Given the description of an element on the screen output the (x, y) to click on. 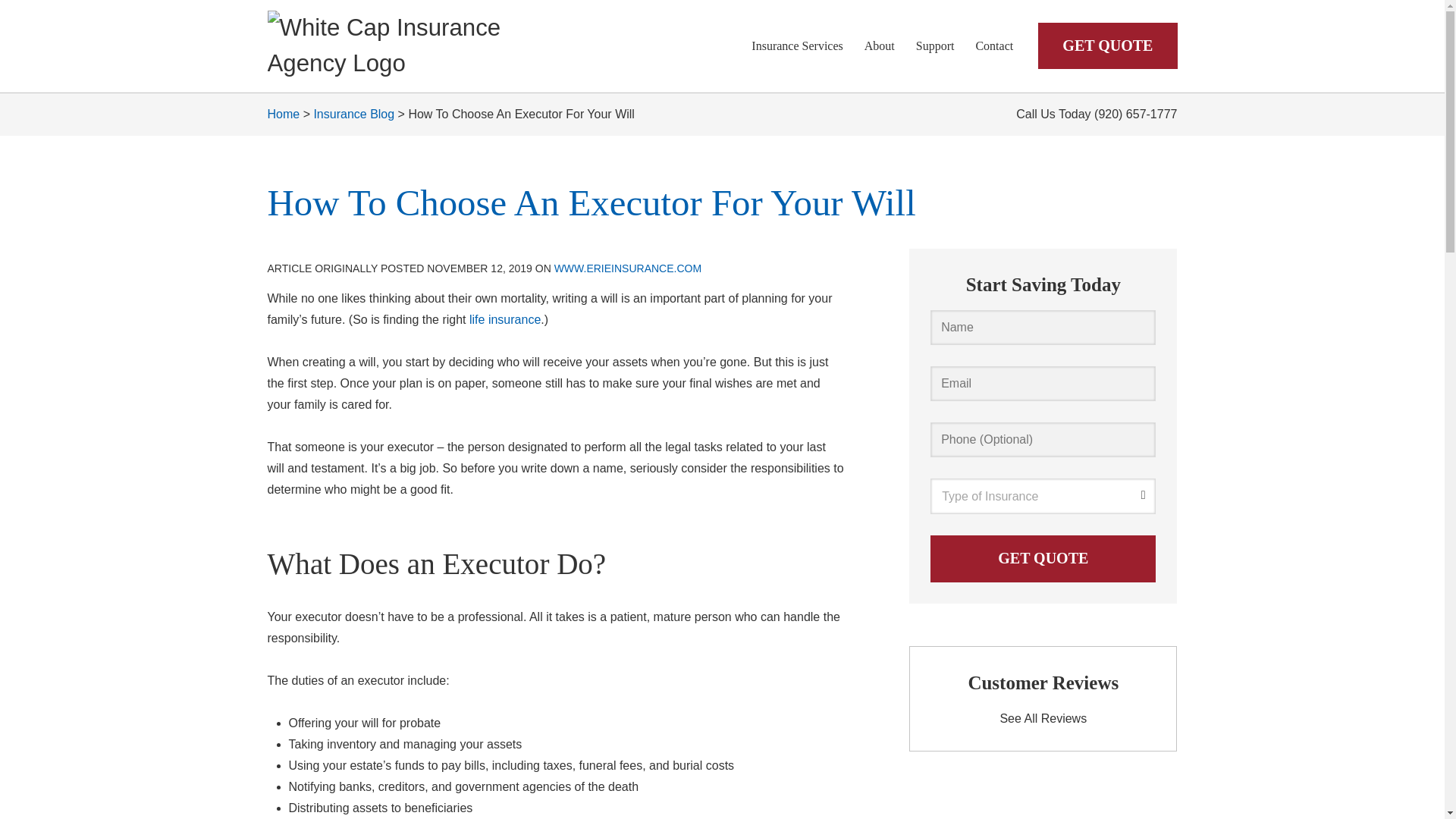
Support (935, 46)
Contact (993, 46)
About (879, 46)
Get Quote (1043, 558)
White Cap Insurance Agency Logo (411, 45)
Home Page (411, 45)
Insurance Services (797, 46)
